Given the description of an element on the screen output the (x, y) to click on. 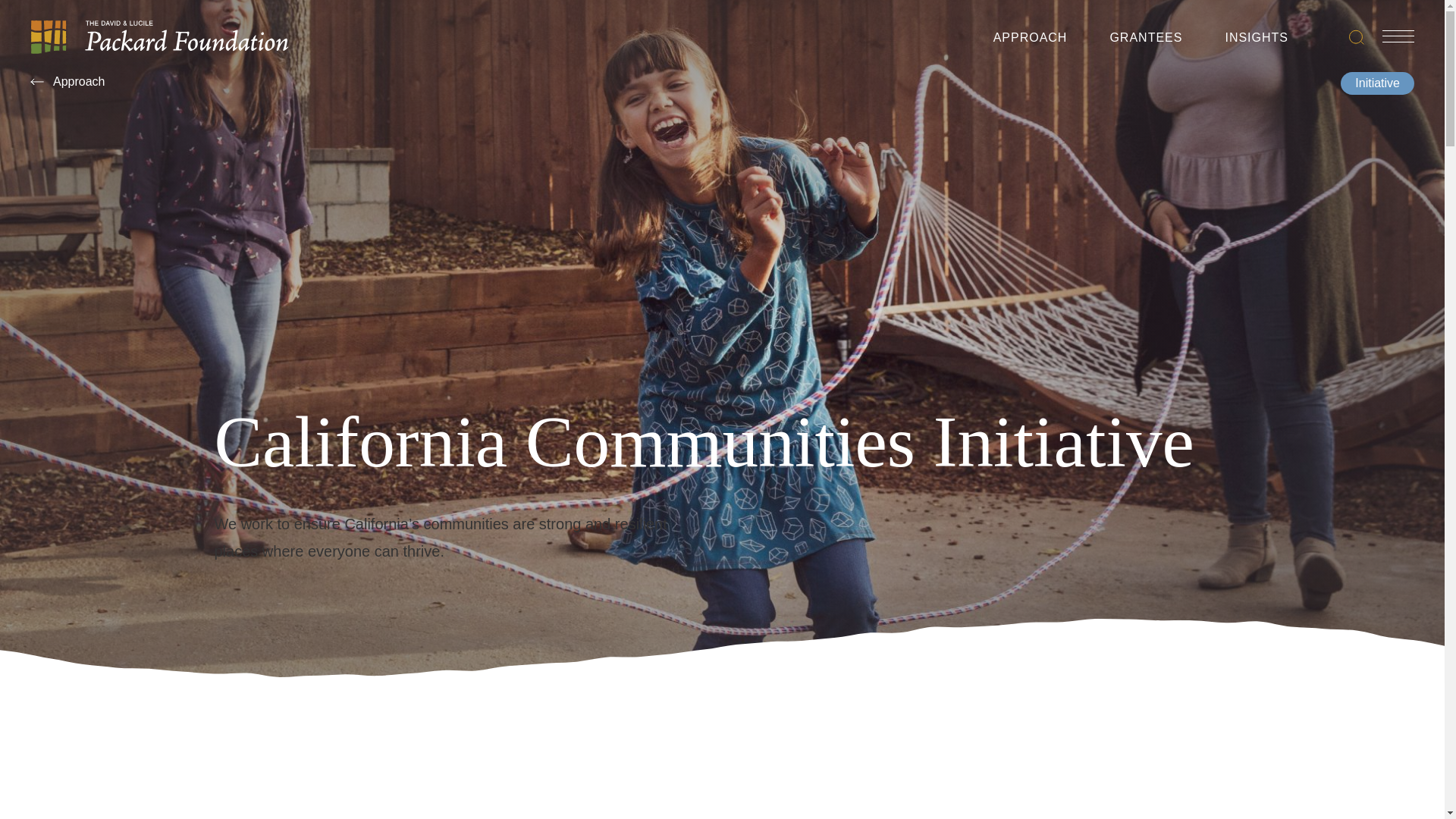
The David and Lucile Packard Foundation (159, 36)
Approach (67, 81)
Navigation Toggle (1397, 36)
Search (1356, 36)
INSIGHTS (1256, 40)
APPROACH (1029, 40)
GRANTEES (1145, 40)
